Given the description of an element on the screen output the (x, y) to click on. 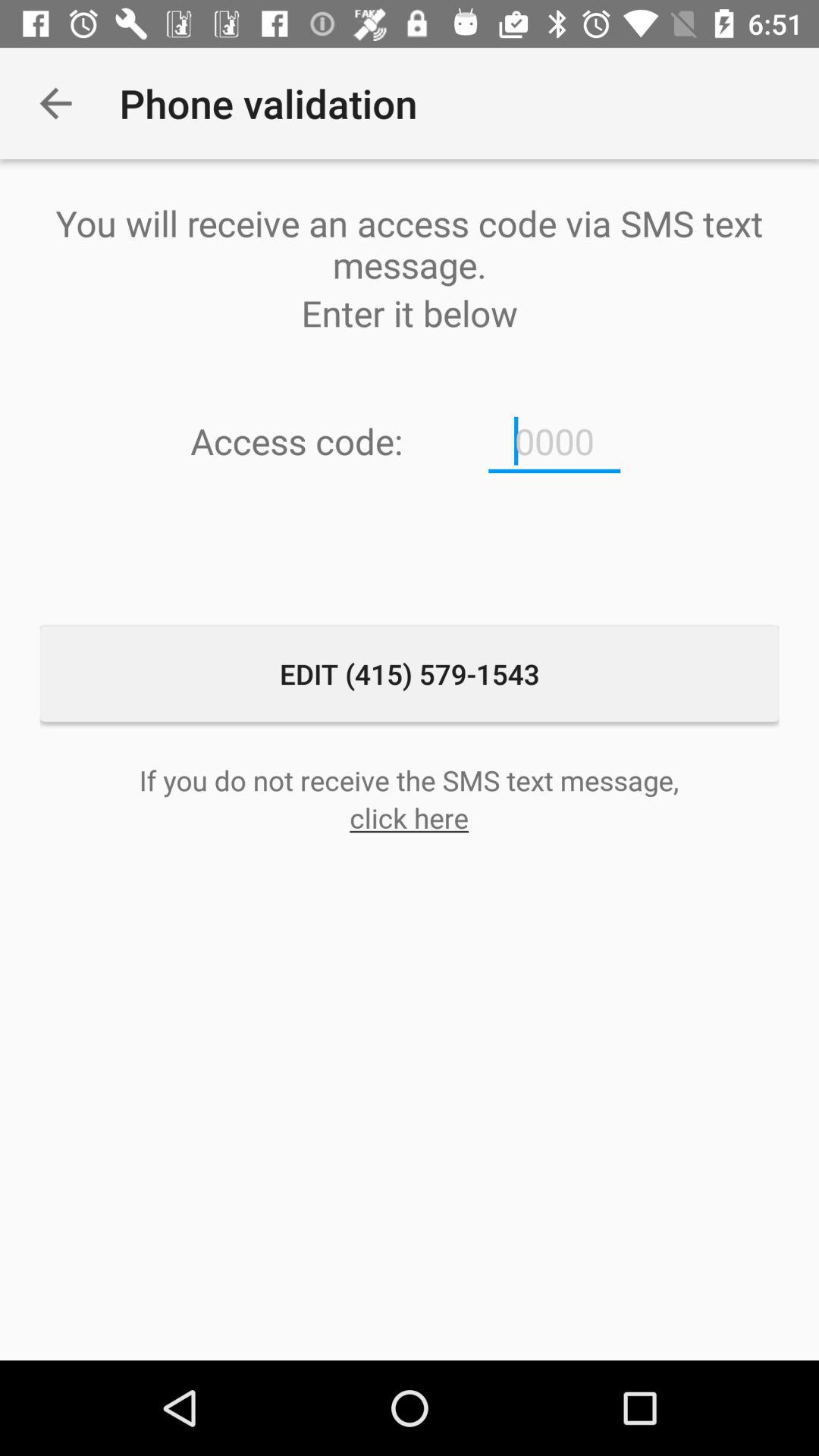
click the icon above the click here icon (409, 780)
